Given the description of an element on the screen output the (x, y) to click on. 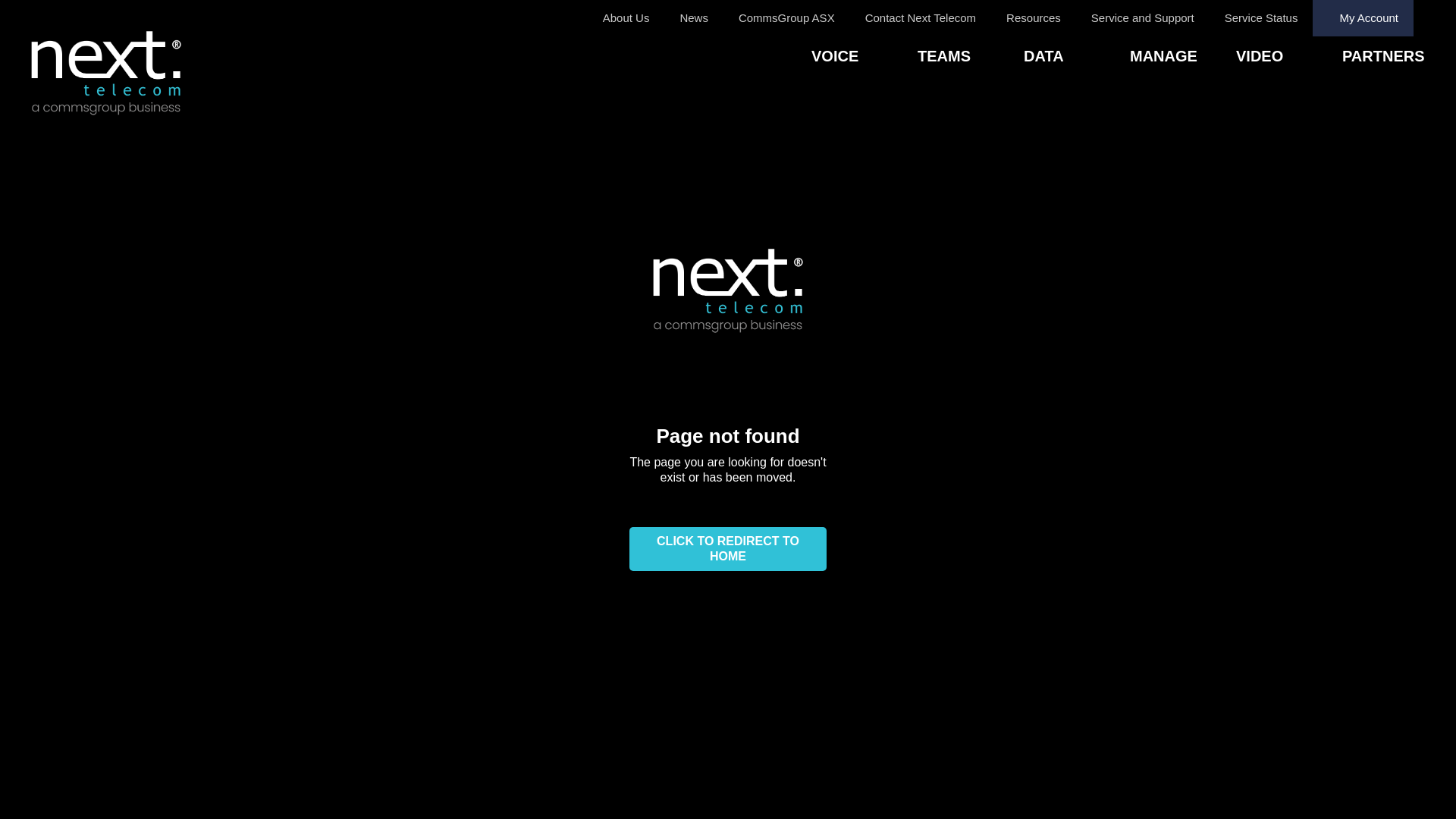
CLICK TO REDIRECT TO HOME Element type: text (727, 549)
TEAMS Element type: text (970, 57)
VIDEO Element type: text (1289, 57)
Contact Next Telecom Element type: text (920, 18)
VOICE Element type: text (864, 57)
My Account Element type: text (1362, 18)
Service and Support Element type: text (1142, 18)
DATA Element type: text (1076, 57)
CommsGroup ASX Element type: text (786, 18)
About Us Element type: text (626, 18)
News Element type: text (693, 18)
MANAGE Element type: text (1182, 57)
Service Status Element type: text (1261, 18)
PARTNERS Element type: text (1395, 57)
Resources Element type: text (1033, 18)
